Given the description of an element on the screen output the (x, y) to click on. 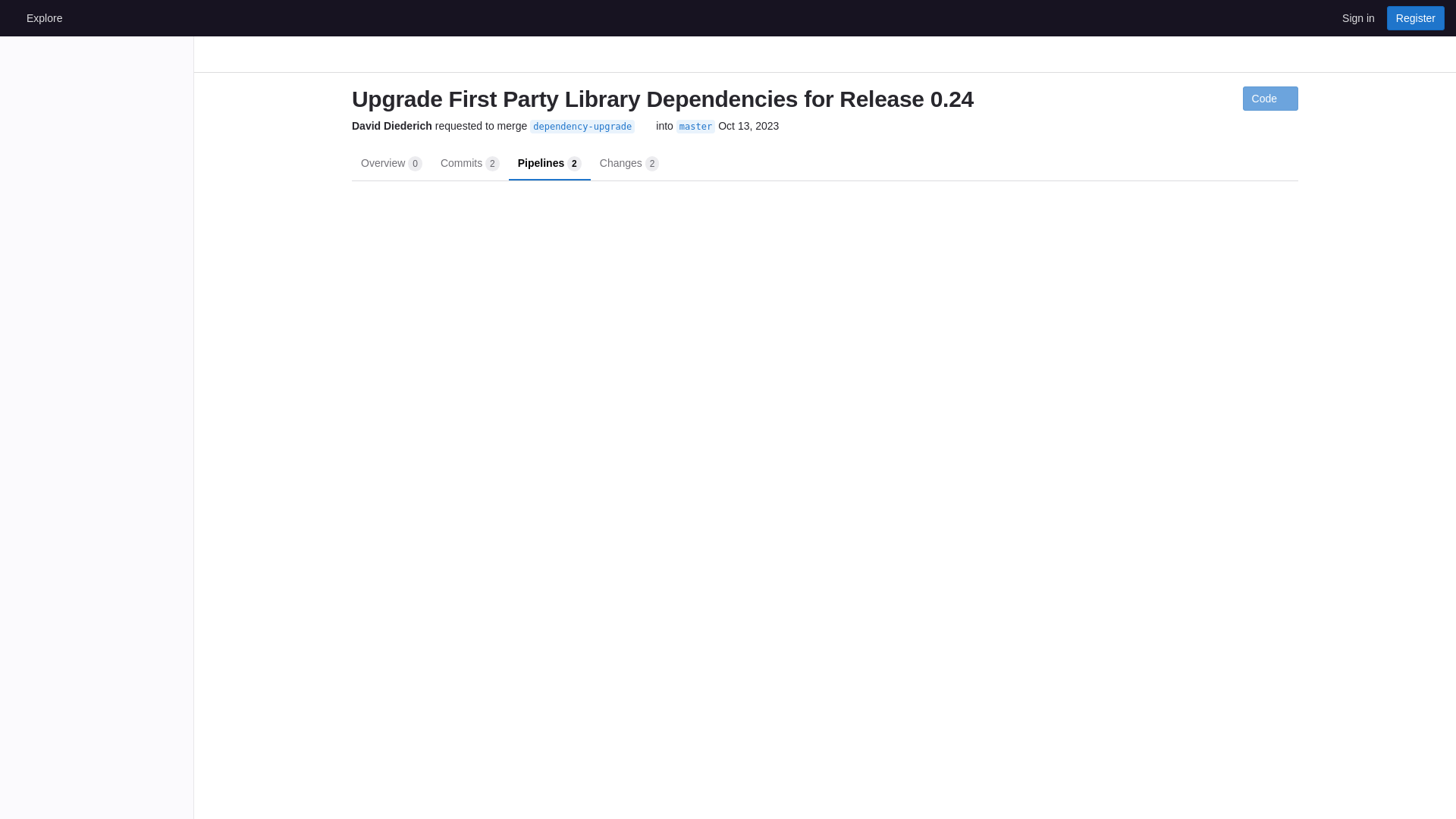
Explore (44, 17)
Register (1415, 17)
Code (1270, 98)
dependency-upgrade (581, 126)
David Diederich (392, 125)
Sign in (469, 162)
Oct 13, 2023 5:48pm (1358, 17)
master (747, 125)
